Given the description of an element on the screen output the (x, y) to click on. 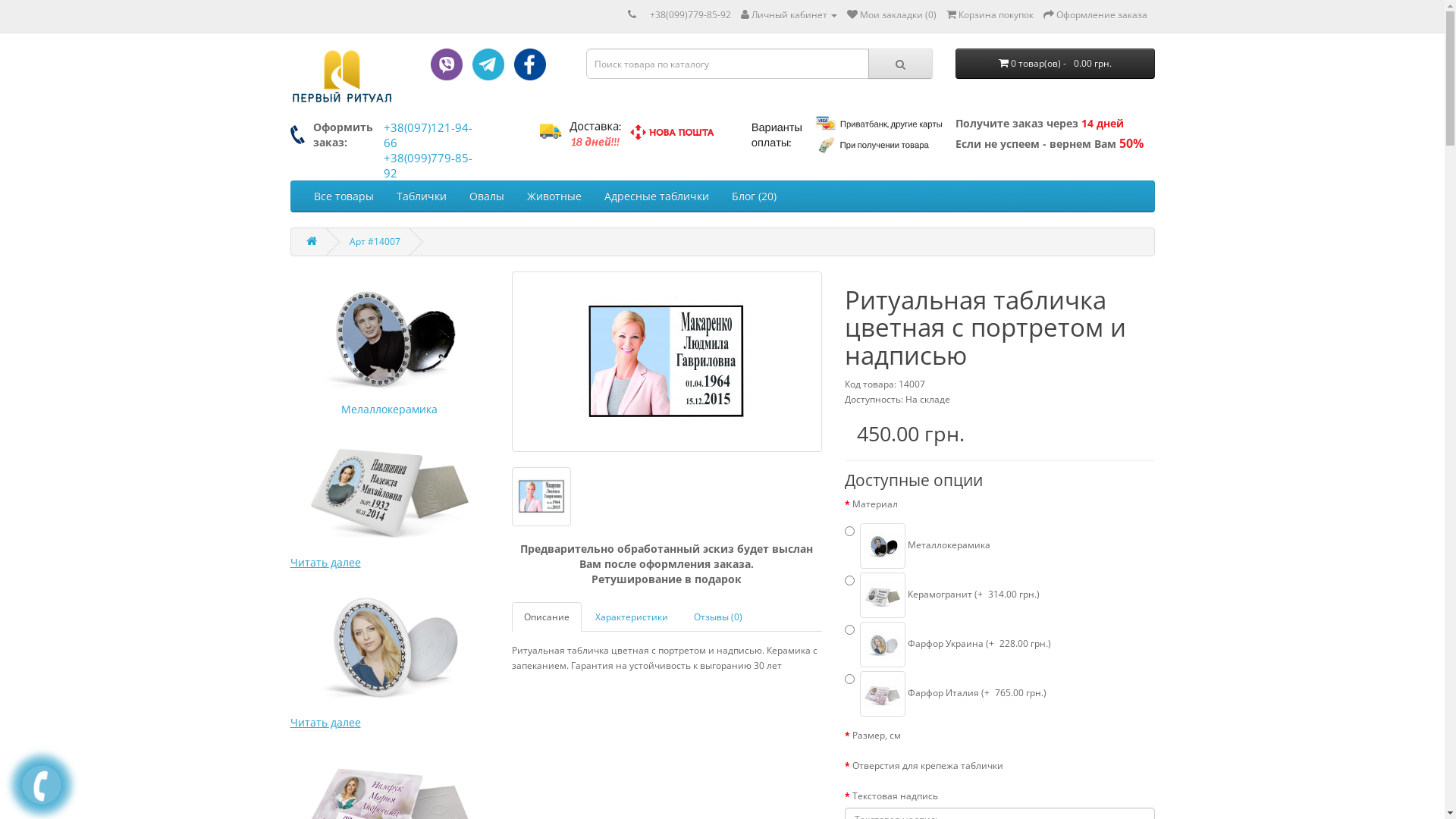
+38(099)779-85-92 Element type: text (689, 14)
+38(097)121-94-66 Element type: text (427, 134)
+38(099)779-85-92 Element type: text (427, 165)
